Given the description of an element on the screen output the (x, y) to click on. 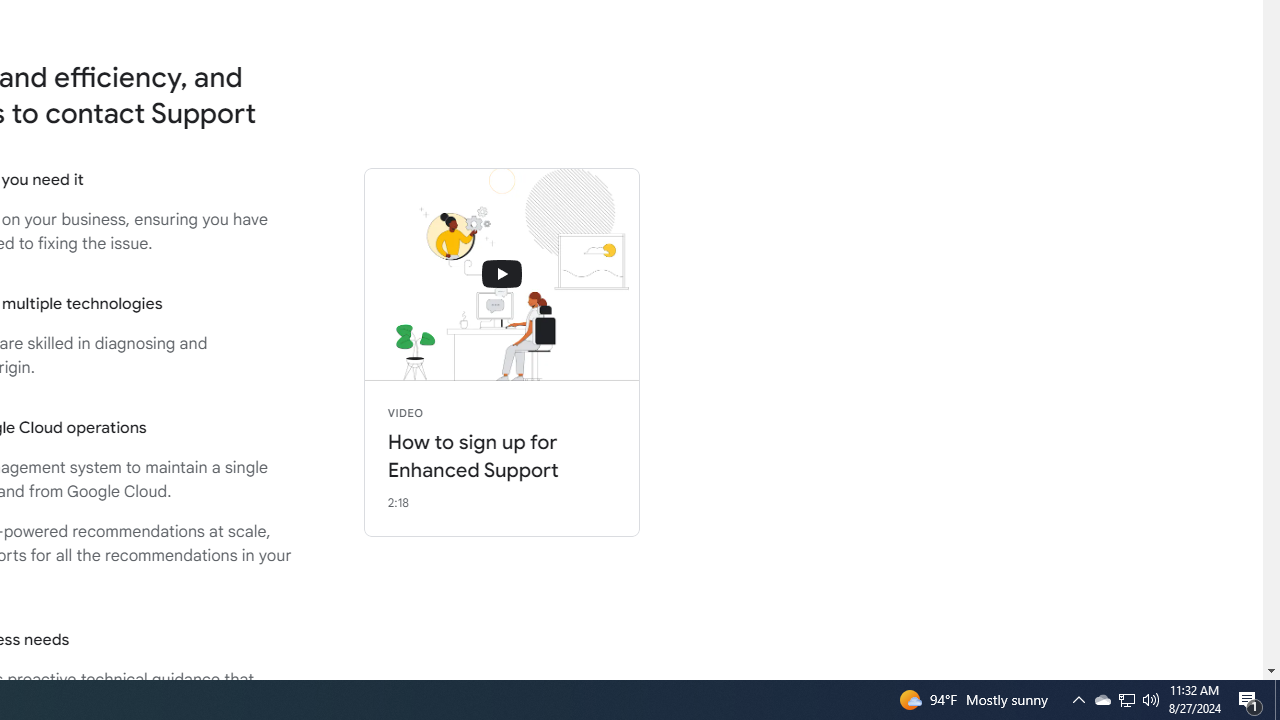
connecting with support (501, 273)
